Given the description of an element on the screen output the (x, y) to click on. 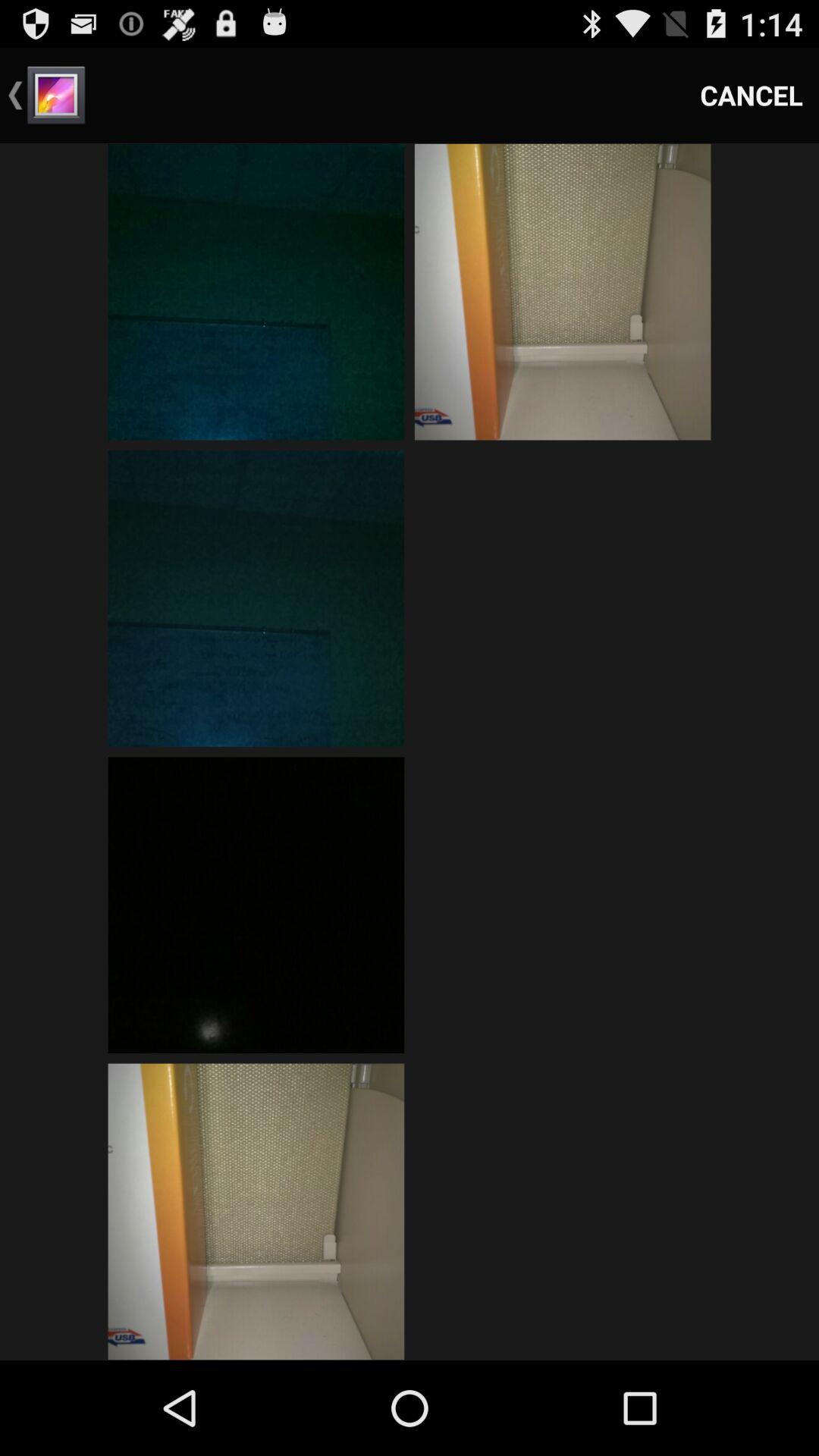
launch the cancel (751, 95)
